Given the description of an element on the screen output the (x, y) to click on. 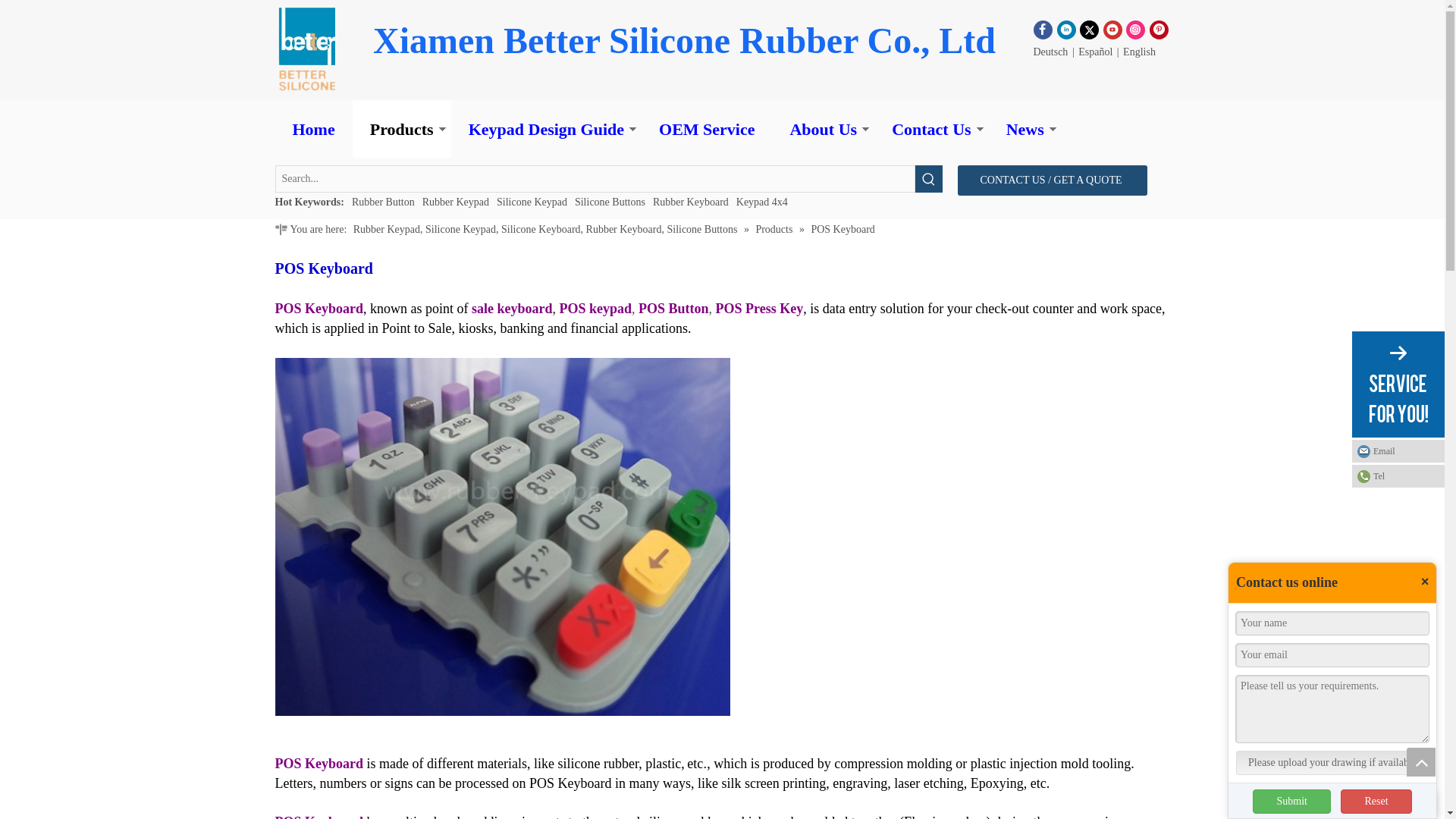
Keypad Design Guide (546, 129)
OEM Service (706, 129)
News (1024, 129)
About Us (823, 129)
Youtube (1112, 29)
Silicone Keypad (531, 202)
Products (401, 129)
Home (313, 129)
Instagram (1134, 29)
Twitter (1089, 29)
Facebook (1042, 29)
English (1139, 51)
Linkedin (1066, 29)
Pinterest (1159, 29)
